Given the description of an element on the screen output the (x, y) to click on. 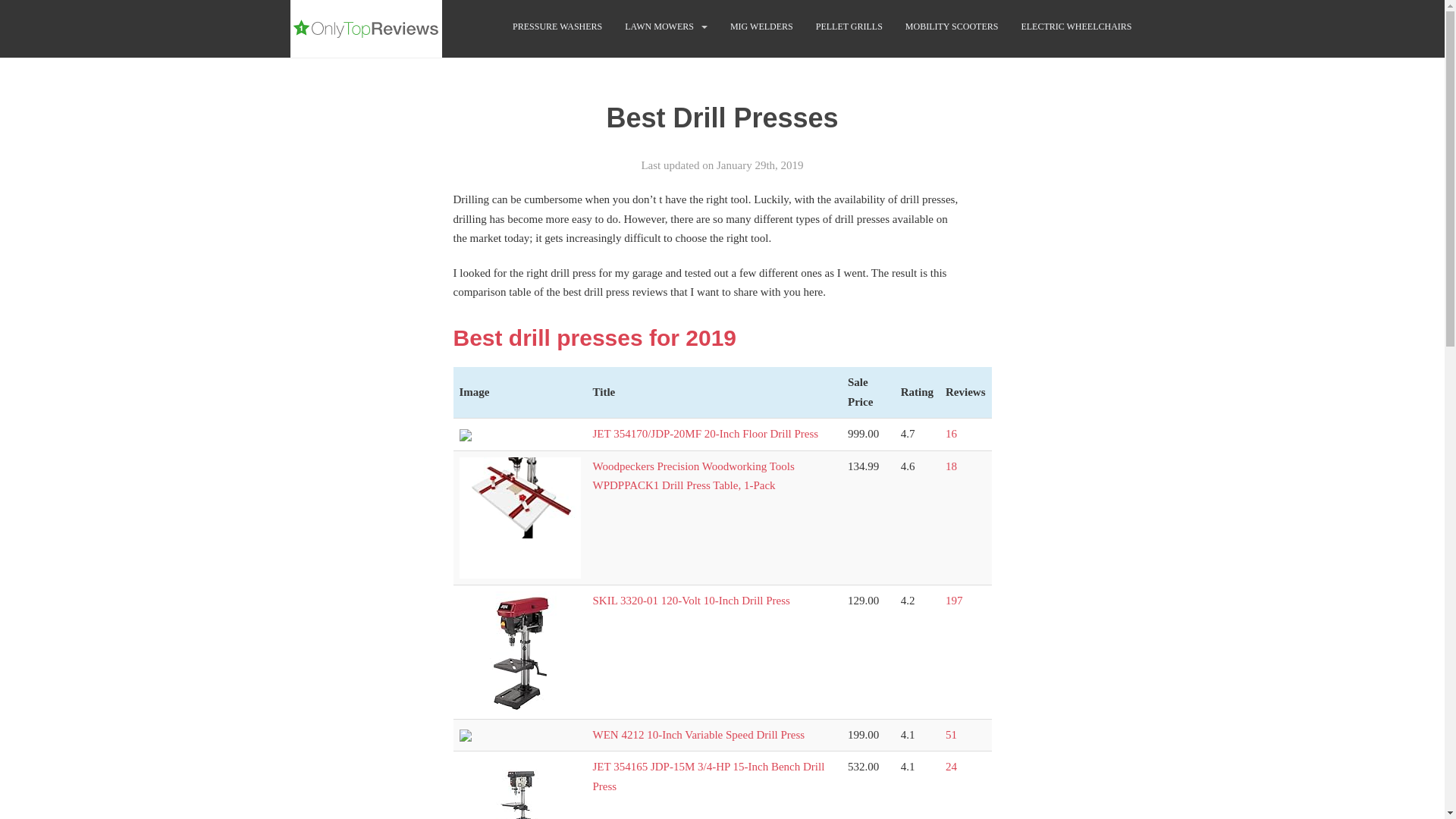
18 (950, 466)
WEN 4212 10-Inch Variable Speed Drill Press (698, 734)
MOBILITY SCOOTERS (951, 26)
MIG WELDERS (761, 26)
LAWN MOWERS (659, 26)
PRESSURE WASHERS (557, 26)
16 (950, 433)
PELLET GRILLS (848, 26)
ELECTRIC WHEELCHAIRS (1075, 26)
